Given the description of an element on the screen output the (x, y) to click on. 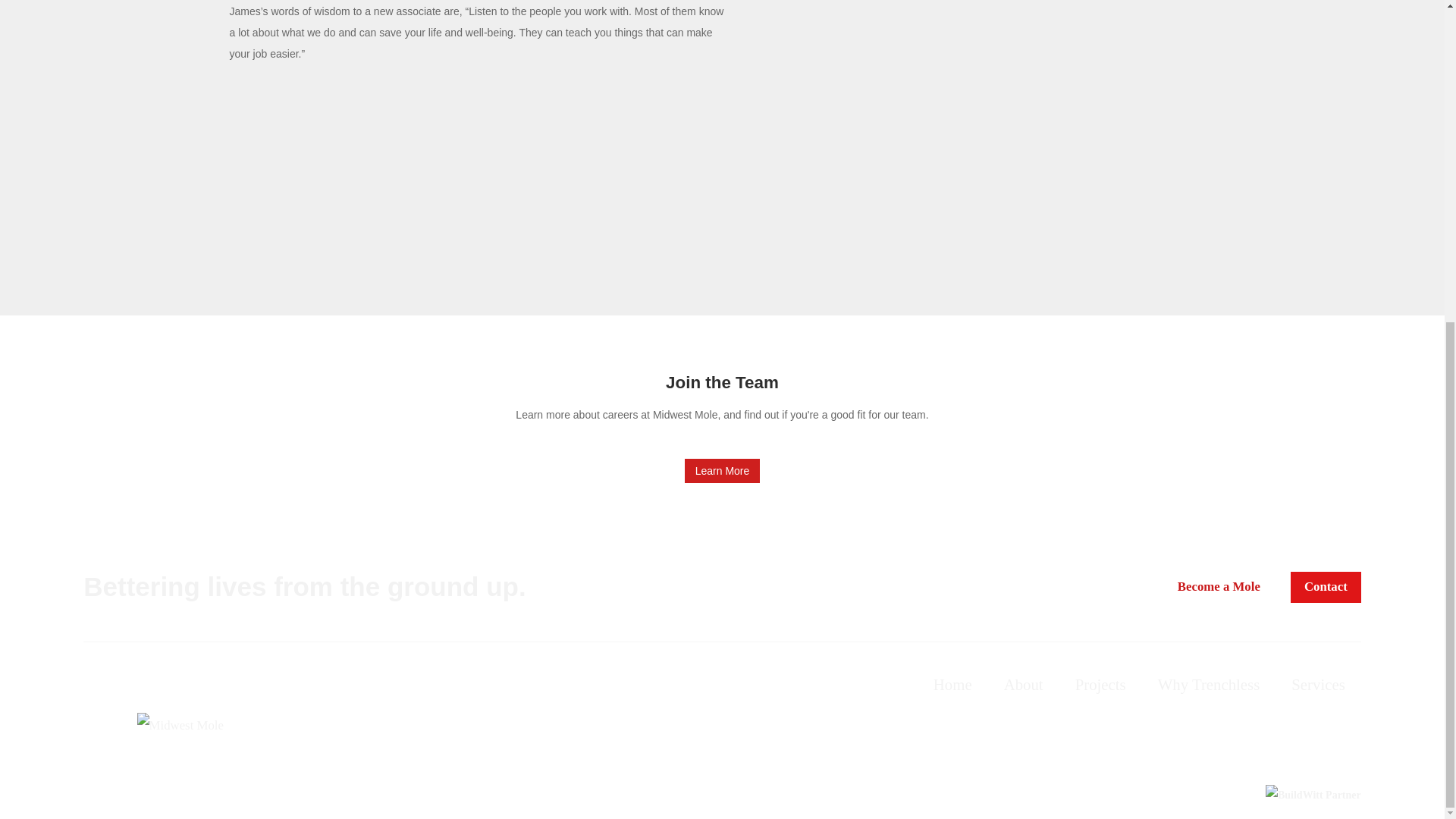
Why Trenchless (1209, 683)
Contact (1325, 586)
Projects (1100, 683)
Home (952, 683)
Become a Mole (1218, 586)
About (1023, 683)
Learn More (722, 470)
Services (1317, 683)
